Given the description of an element on the screen output the (x, y) to click on. 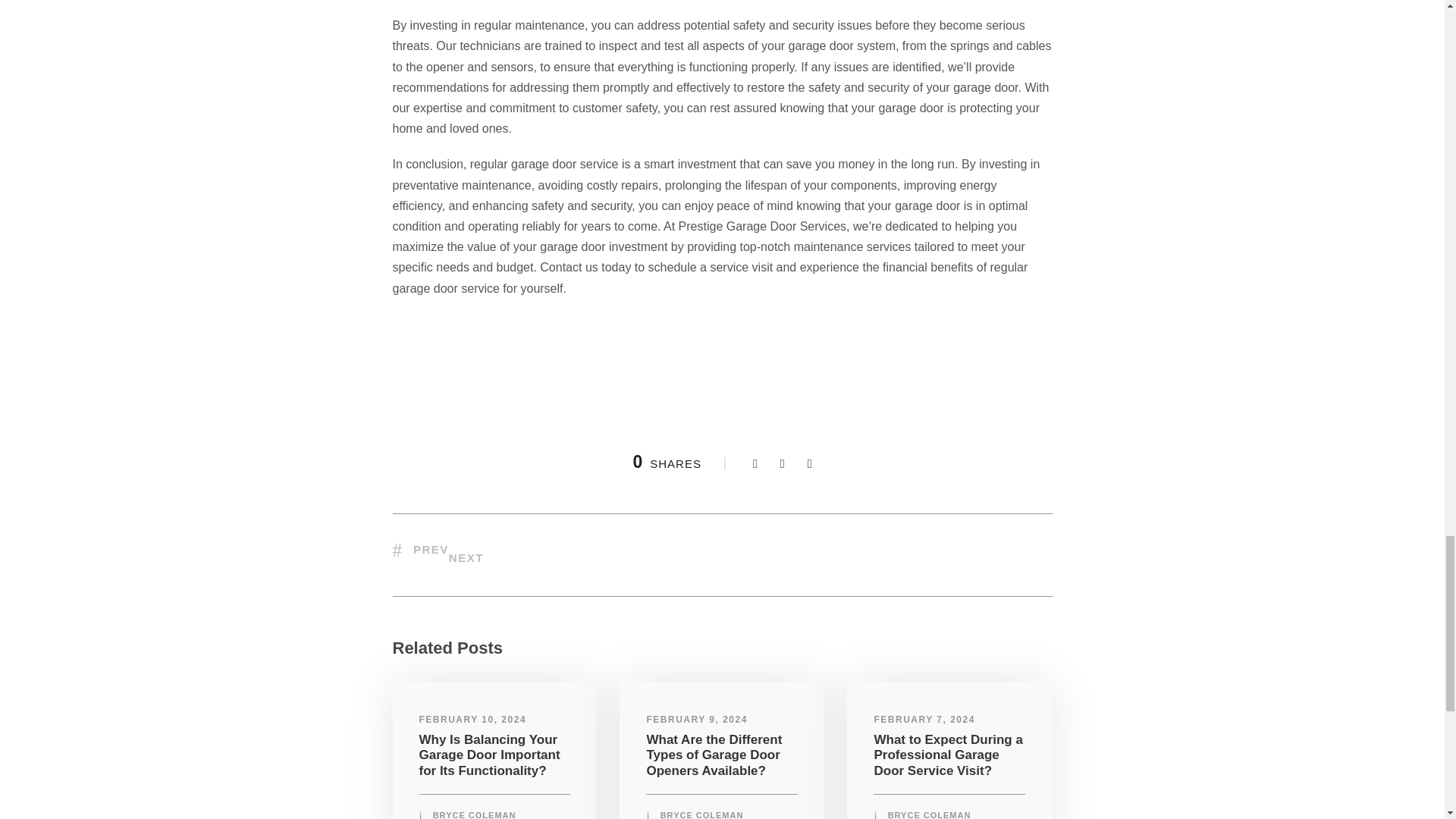
Posts by Bryce Coleman (474, 814)
Posts by Bryce Coleman (929, 814)
Posts by Bryce Coleman (702, 814)
